Given the description of an element on the screen output the (x, y) to click on. 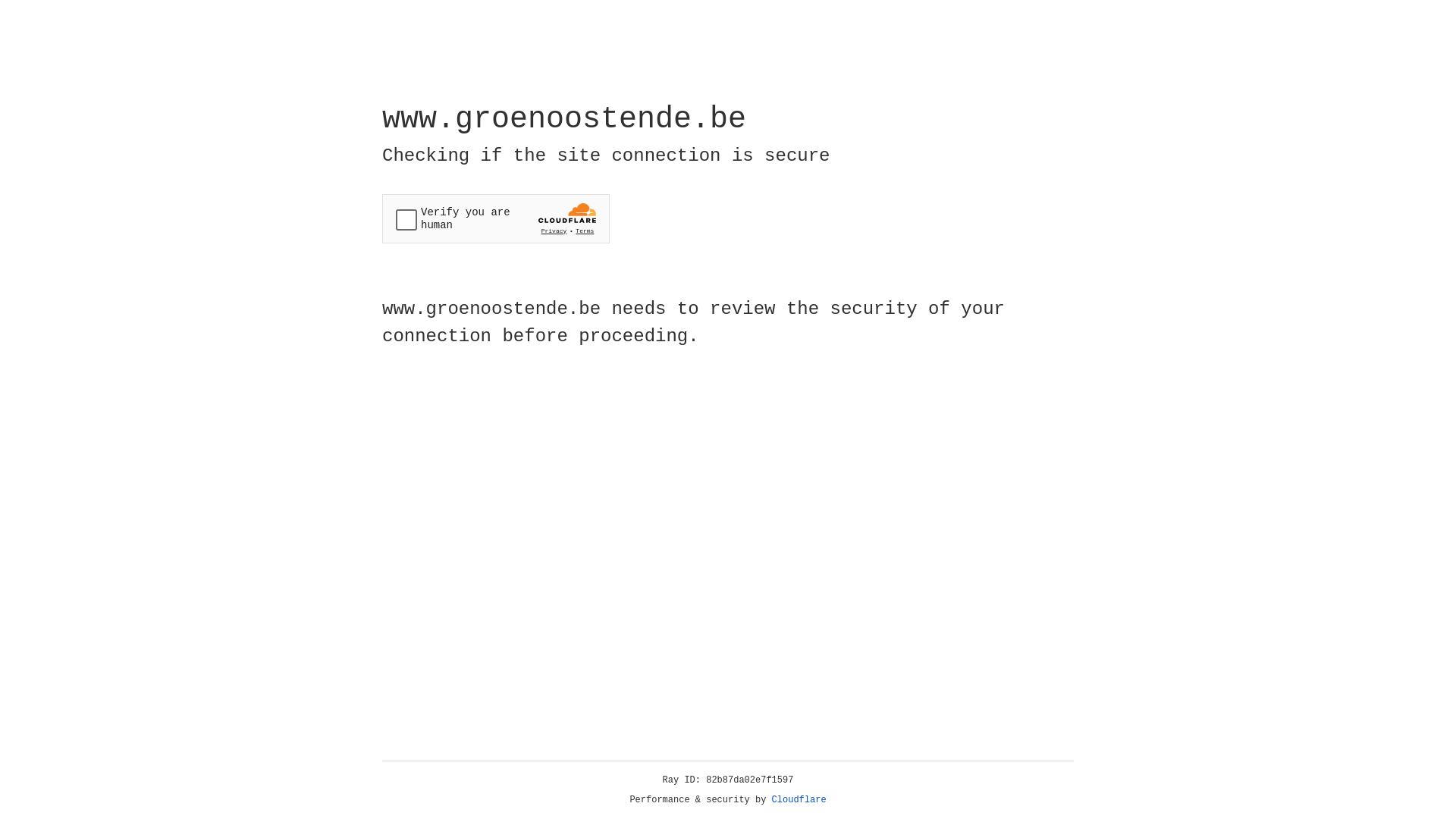
Widget containing a Cloudflare security challenge Element type: hover (495, 218)
Cloudflare Element type: text (798, 799)
